Given the description of an element on the screen output the (x, y) to click on. 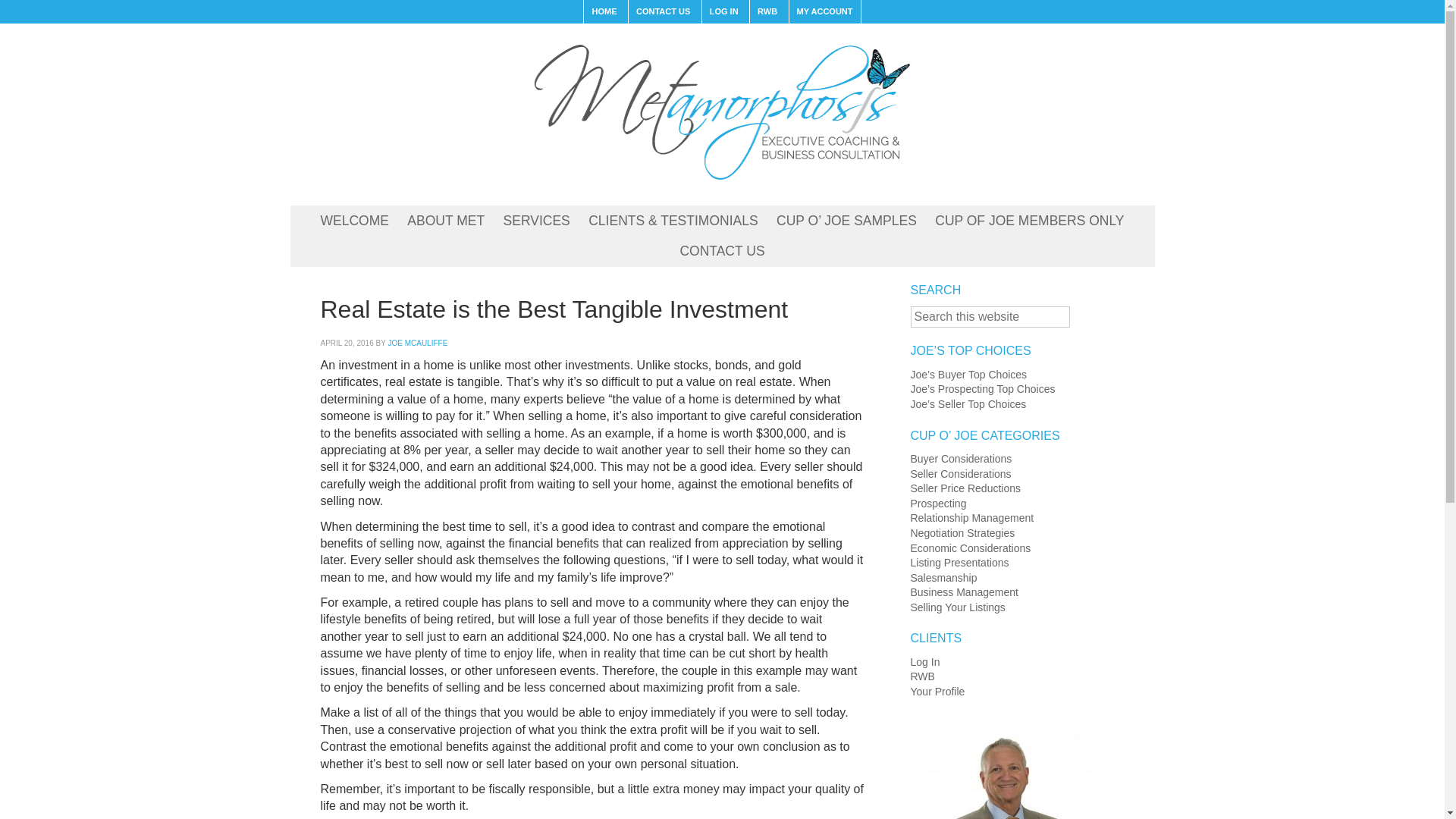
WELCOME (354, 220)
CONTACT US (721, 250)
JOE MCAULIFFE (416, 343)
CUP OF JOE MEMBERS ONLY (1029, 220)
RWB (766, 11)
SERVICES (537, 220)
ABOUT MET (445, 220)
HOME (603, 11)
CONTACT US (662, 11)
